Given the description of an element on the screen output the (x, y) to click on. 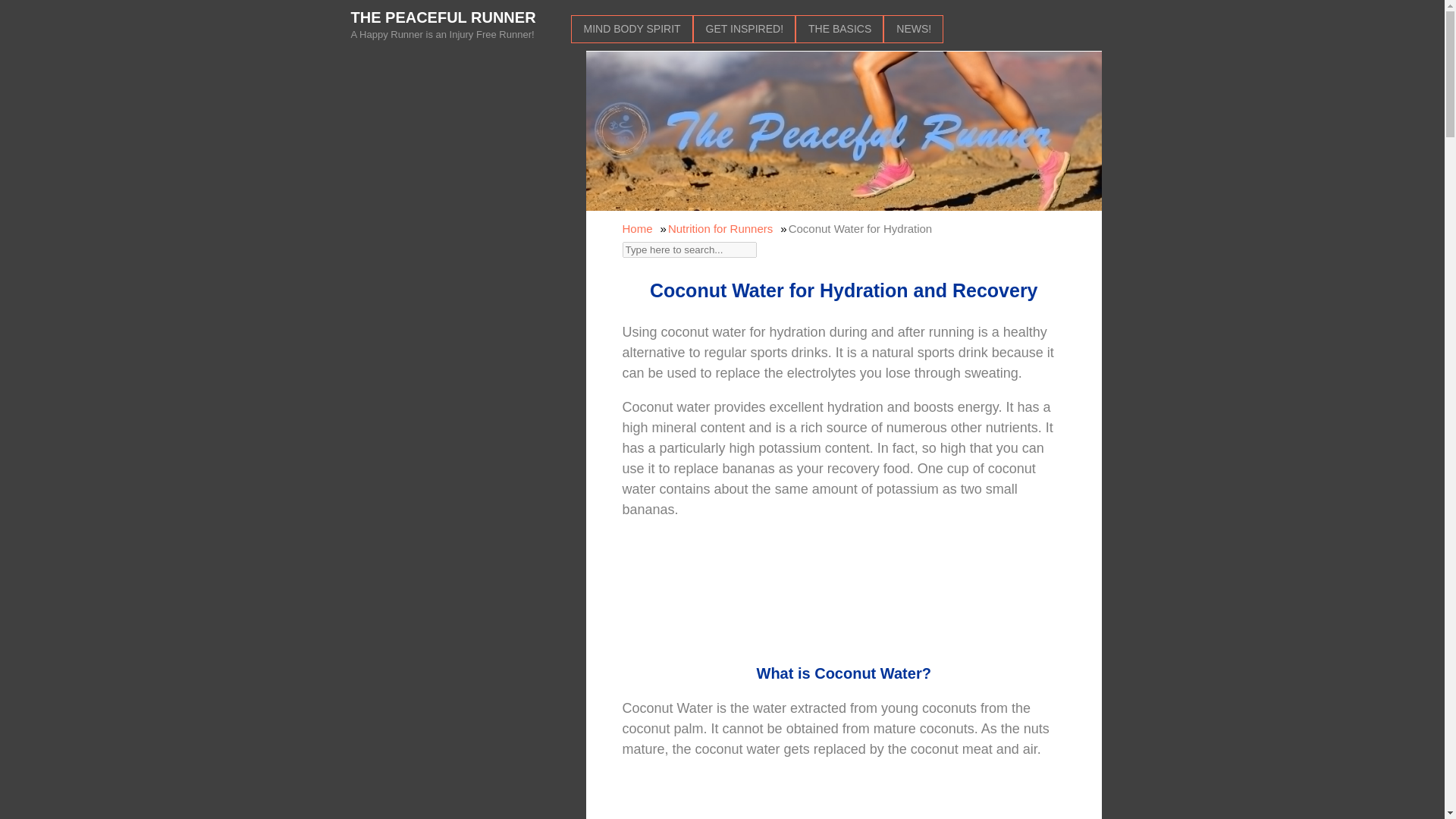
Coconut water for hydration (844, 806)
THE PEACEFUL RUNNER (442, 17)
Get great deals every day at Amazon! (842, 597)
Home (636, 228)
Nutrition for Runners (720, 228)
